Given the description of an element on the screen output the (x, y) to click on. 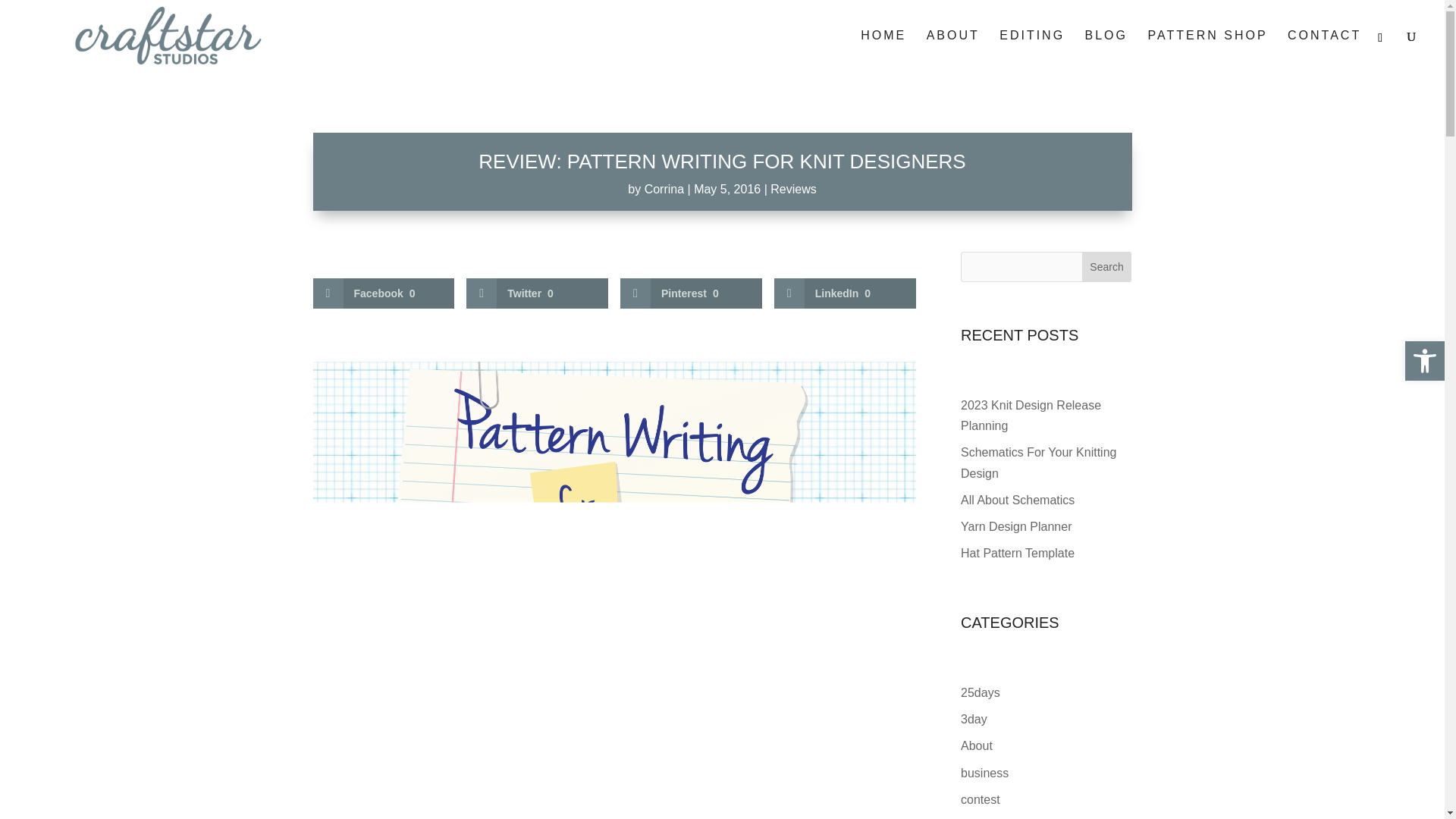
HOME (882, 50)
Twitter 0 (536, 293)
ABOUT (952, 50)
PATTERN SHOP (1206, 50)
LinkedIn 0 (844, 293)
Reviews (792, 188)
Facebook 0 (383, 293)
Search (1106, 266)
Posts by Corrina (664, 188)
Corrina (664, 188)
